Given the description of an element on the screen output the (x, y) to click on. 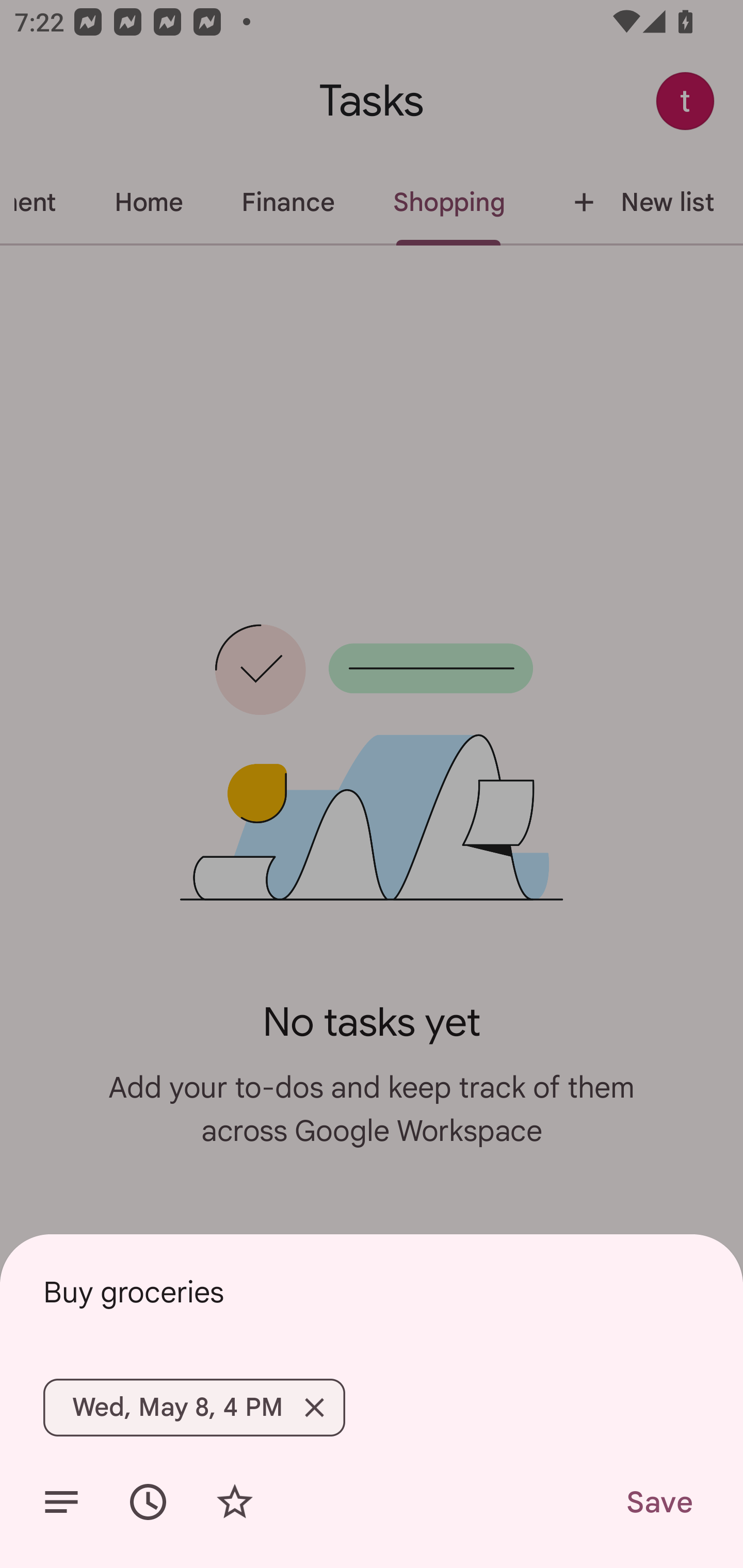
Buy groceries (371, 1291)
Wed, May 8, 4 PM Remove Wed, May 8, 4 PM (194, 1407)
Save (659, 1501)
Add details (60, 1501)
Set date/time (147, 1501)
Add star (234, 1501)
